Given the description of an element on the screen output the (x, y) to click on. 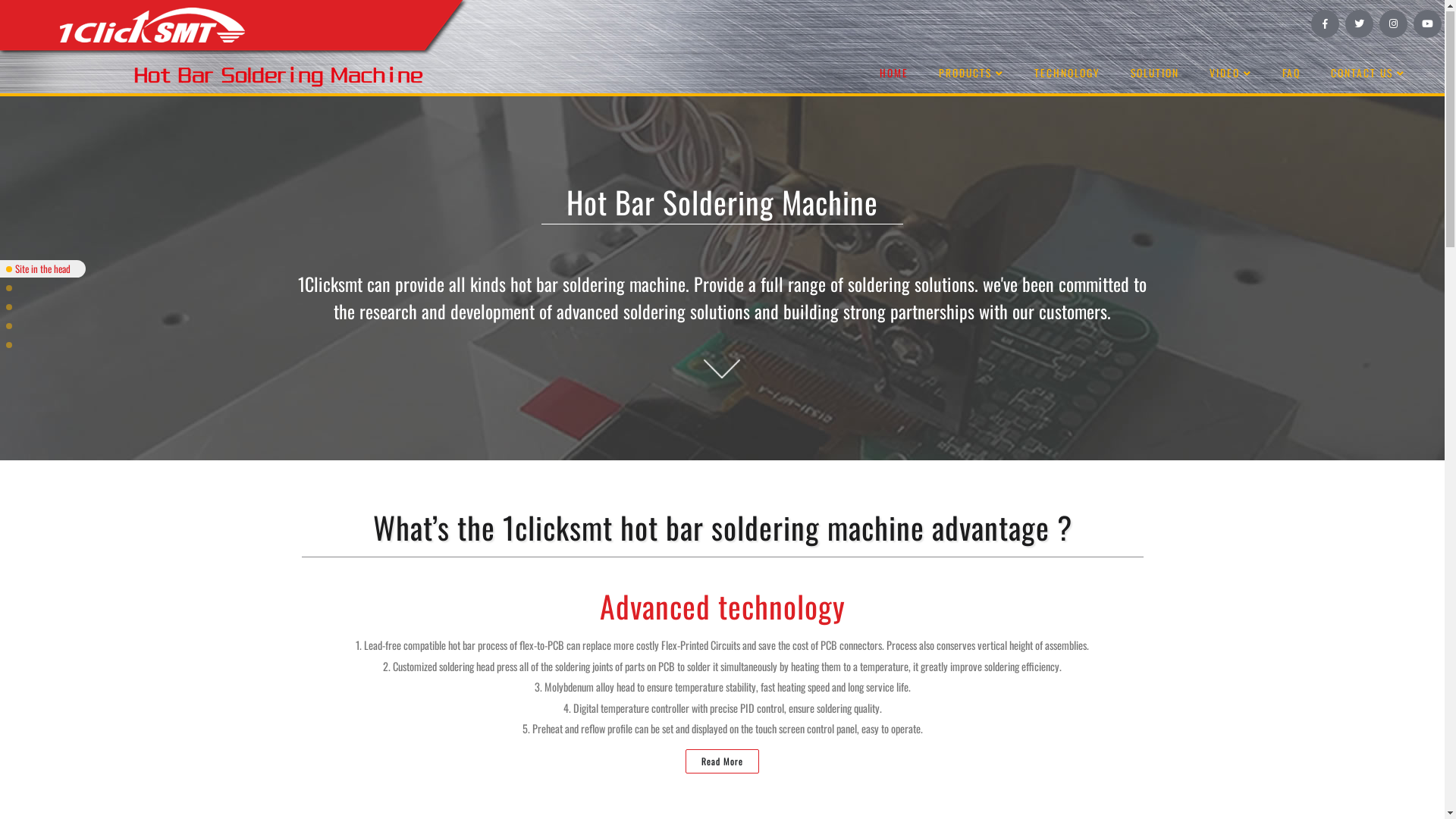
Advanced technology Element type: hover (52, 287)
Products Element type: hover (31, 325)
CONTACT US Element type: text (1367, 73)
Read More Element type: text (722, 761)
PRODUCTS Element type: text (971, 73)
VIDEO Element type: text (1230, 73)
TECHNOLOGY Element type: text (1066, 73)
Principle of Soldering Element type: hover (53, 307)
FAQ Element type: text (1290, 73)
Products video Element type: hover (41, 345)
SOLUTION Element type: text (1154, 73)
HOME Element type: text (893, 73)
Site in the head Element type: text (42, 269)
